Given the description of an element on the screen output the (x, y) to click on. 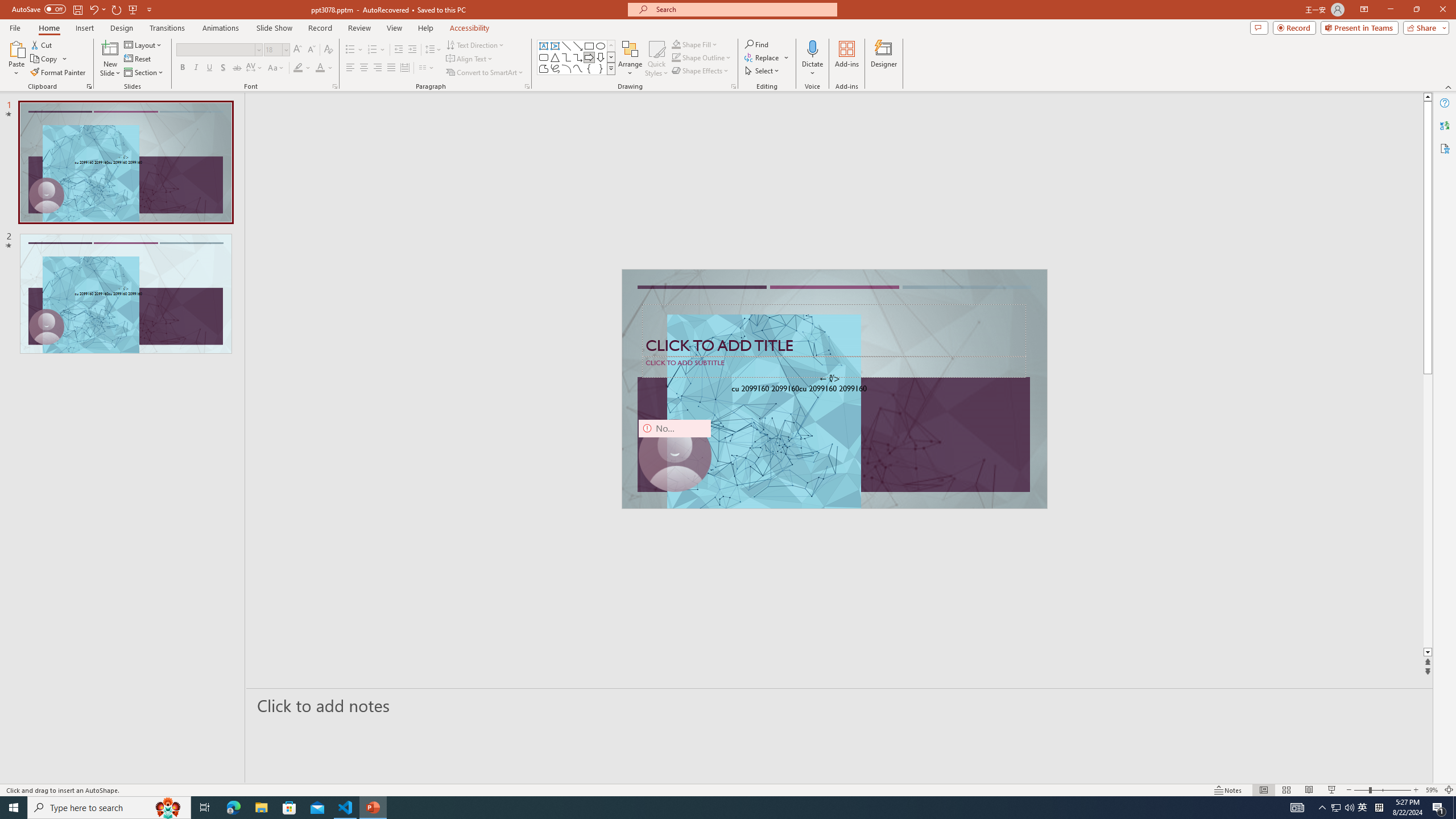
An abstract genetic concept (833, 388)
